Given the description of an element on the screen output the (x, y) to click on. 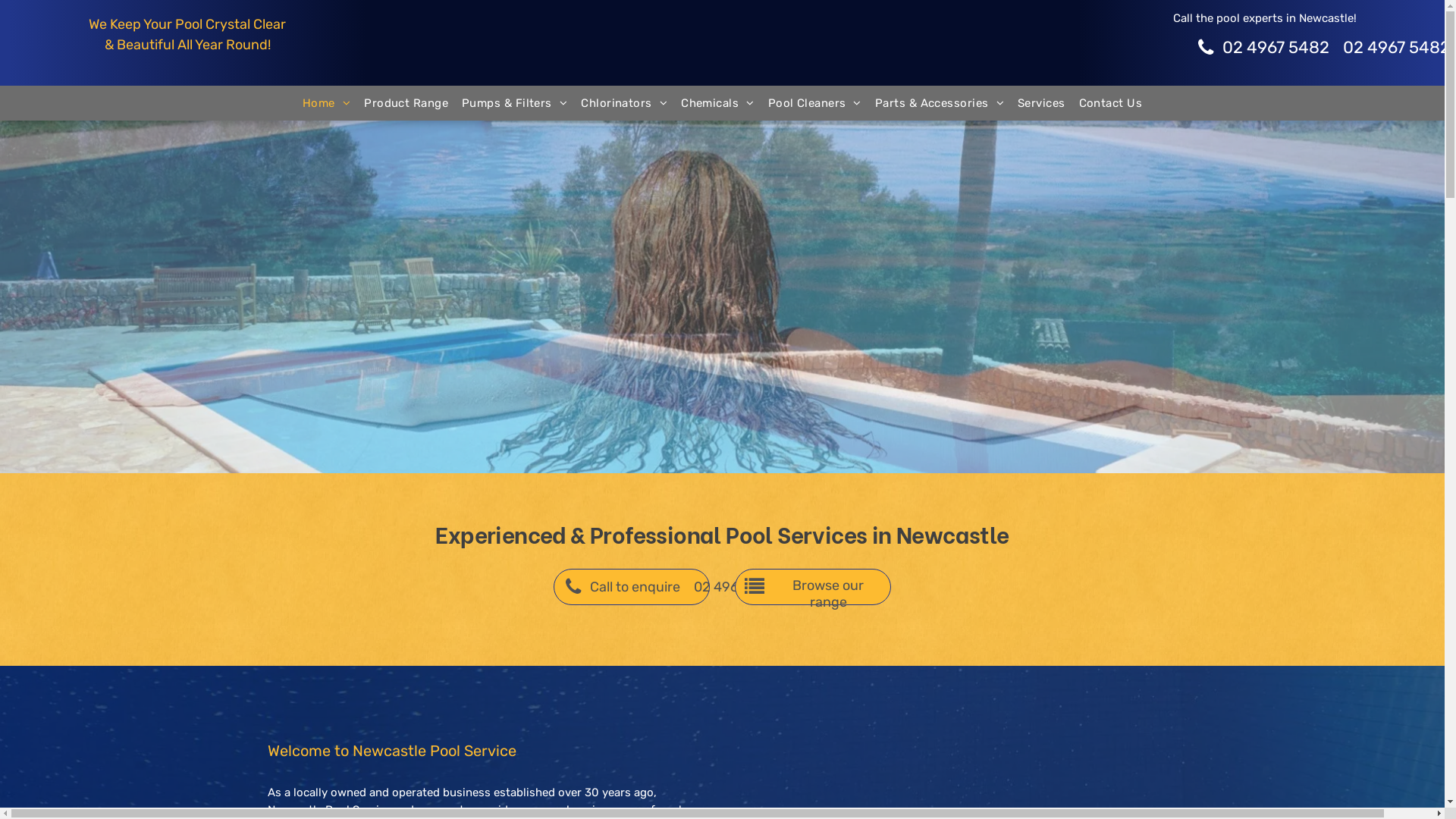
Parts & Accessories Element type: text (939, 103)
Chemicals Element type: text (717, 103)
Home Element type: text (326, 103)
Services Element type: text (1041, 103)
02 4967 5482 02 4967 5482 Element type: text (1264, 47)
Chlorinators Element type: text (624, 103)
Call to enquire 02 4967 5482 Element type: text (631, 586)
Product Range Element type: text (406, 103)
Pumps & Filters Element type: text (514, 103)
Contact Us Element type: text (1110, 103)
Pool Cleaners Element type: text (814, 103)
Browse our range Element type: text (812, 586)
